Given the description of an element on the screen output the (x, y) to click on. 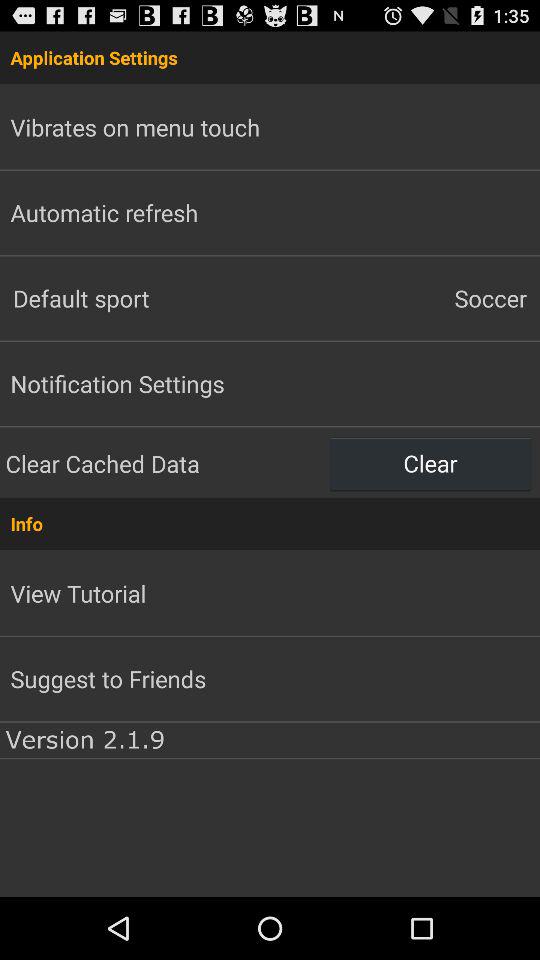
click the item below default sport icon (117, 383)
